Given the description of an element on the screen output the (x, y) to click on. 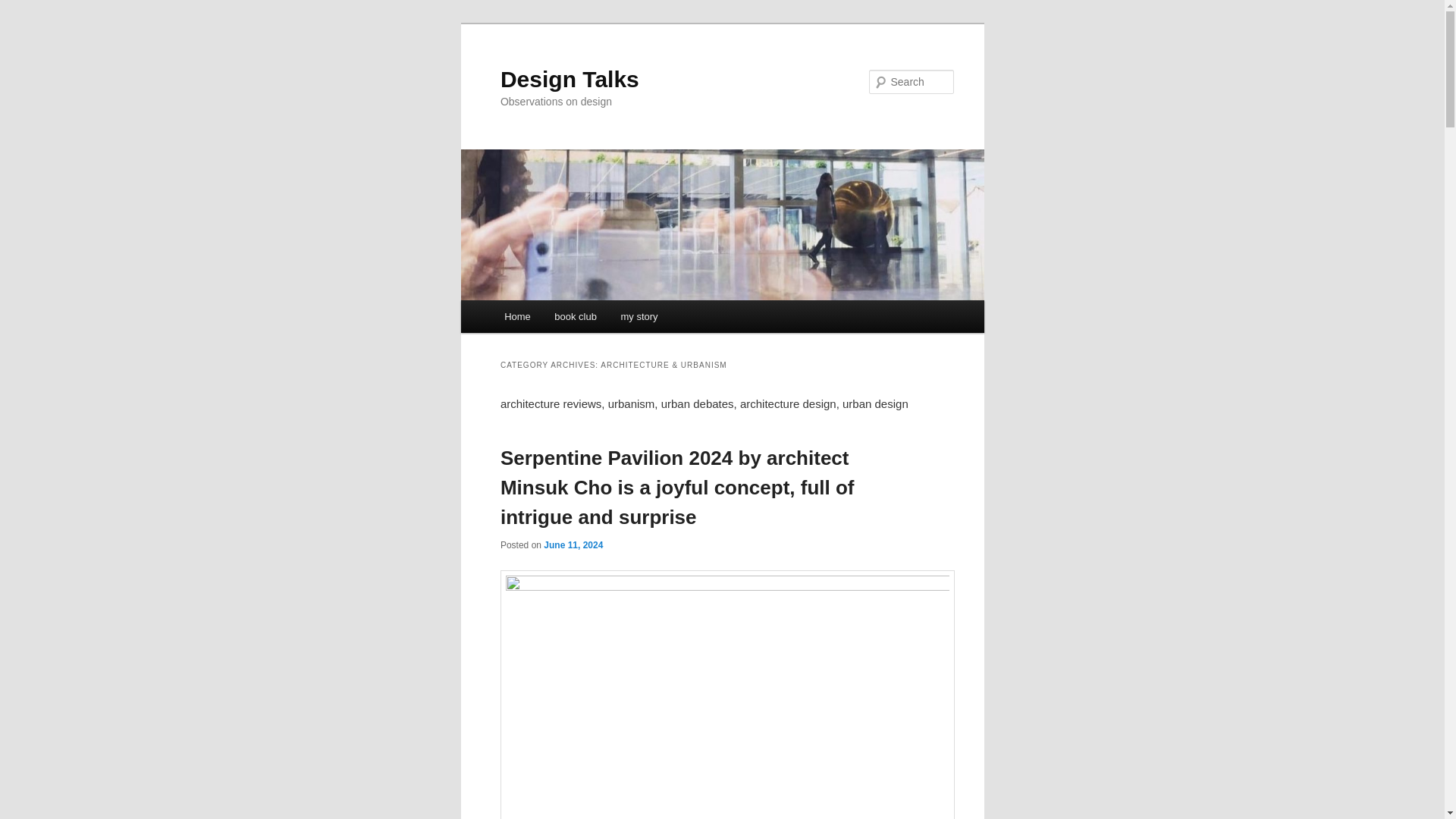
Search (24, 8)
June 11, 2024 (572, 544)
Design Talks (569, 78)
Home (516, 316)
book club (575, 316)
my story (638, 316)
